Given the description of an element on the screen output the (x, y) to click on. 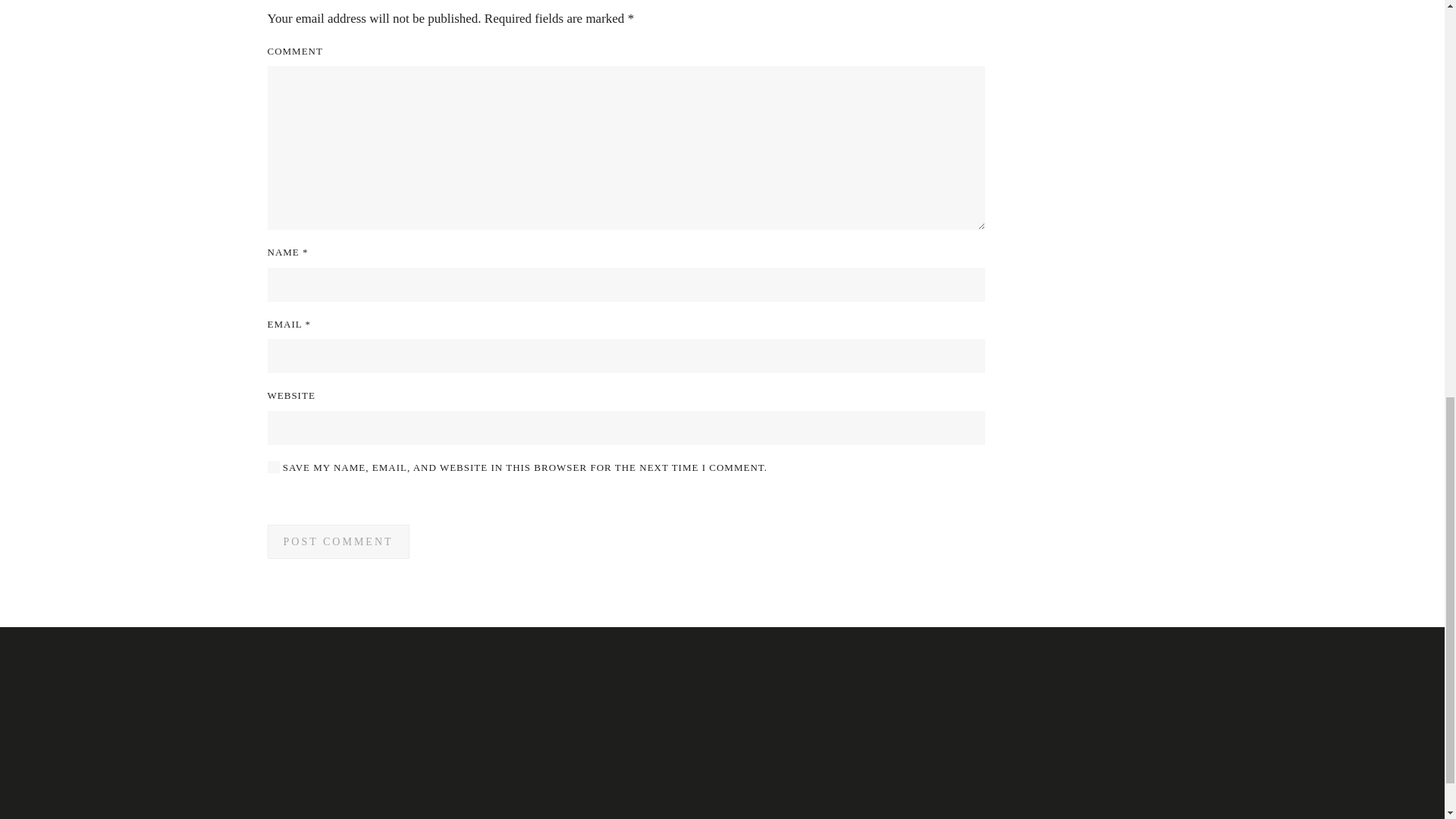
yes (272, 467)
